Given the description of an element on the screen output the (x, y) to click on. 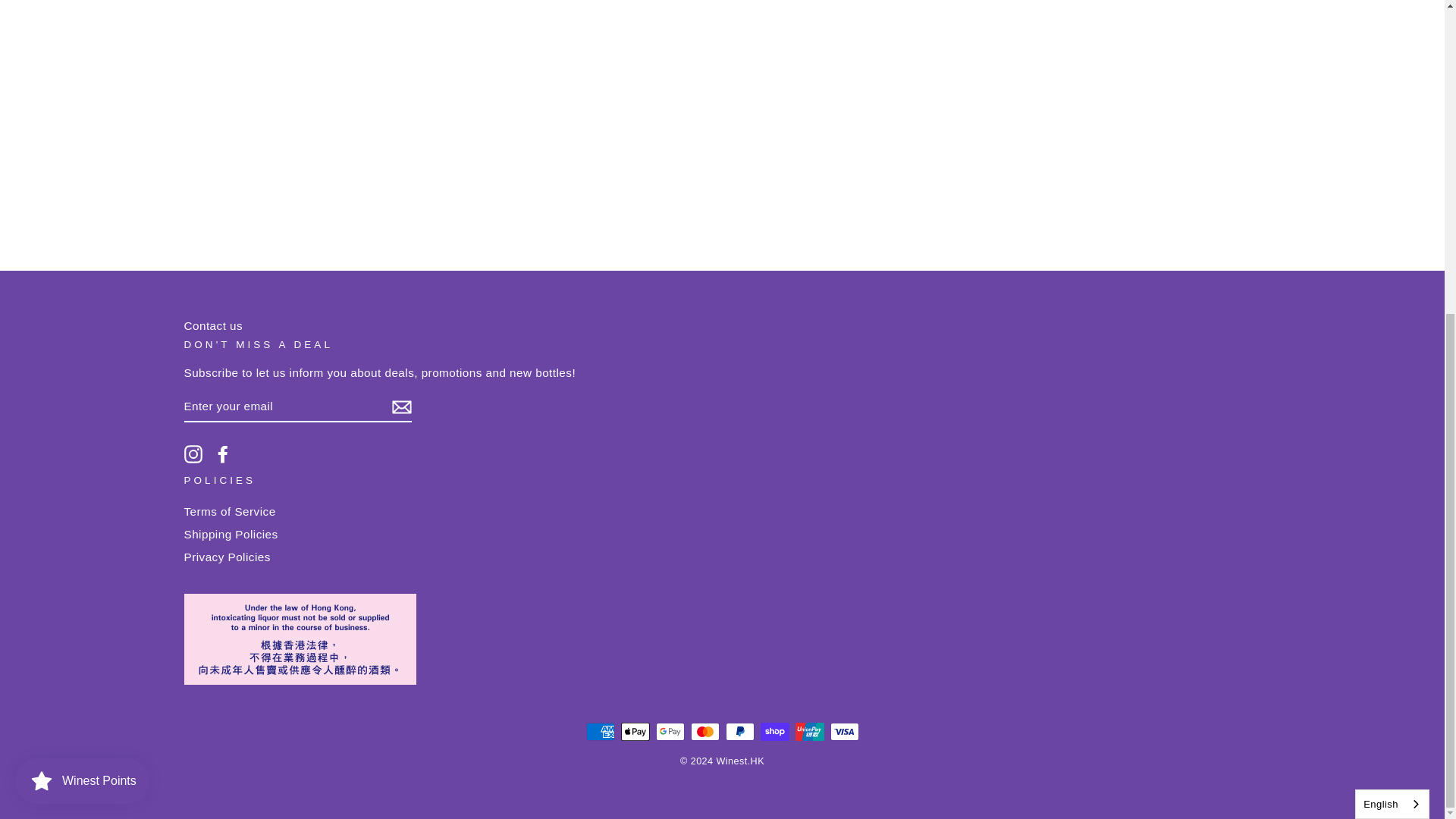
PayPal (739, 731)
Winest.HK on Instagram (192, 454)
Winest.HK on Facebook (222, 454)
Visa (844, 731)
Union Pay (809, 731)
Google Pay (669, 731)
Apple Pay (634, 731)
American Express (599, 731)
Smile.io Rewards Program Launcher (81, 278)
Shop Pay (774, 731)
Mastercard (704, 731)
